Given the description of an element on the screen output the (x, y) to click on. 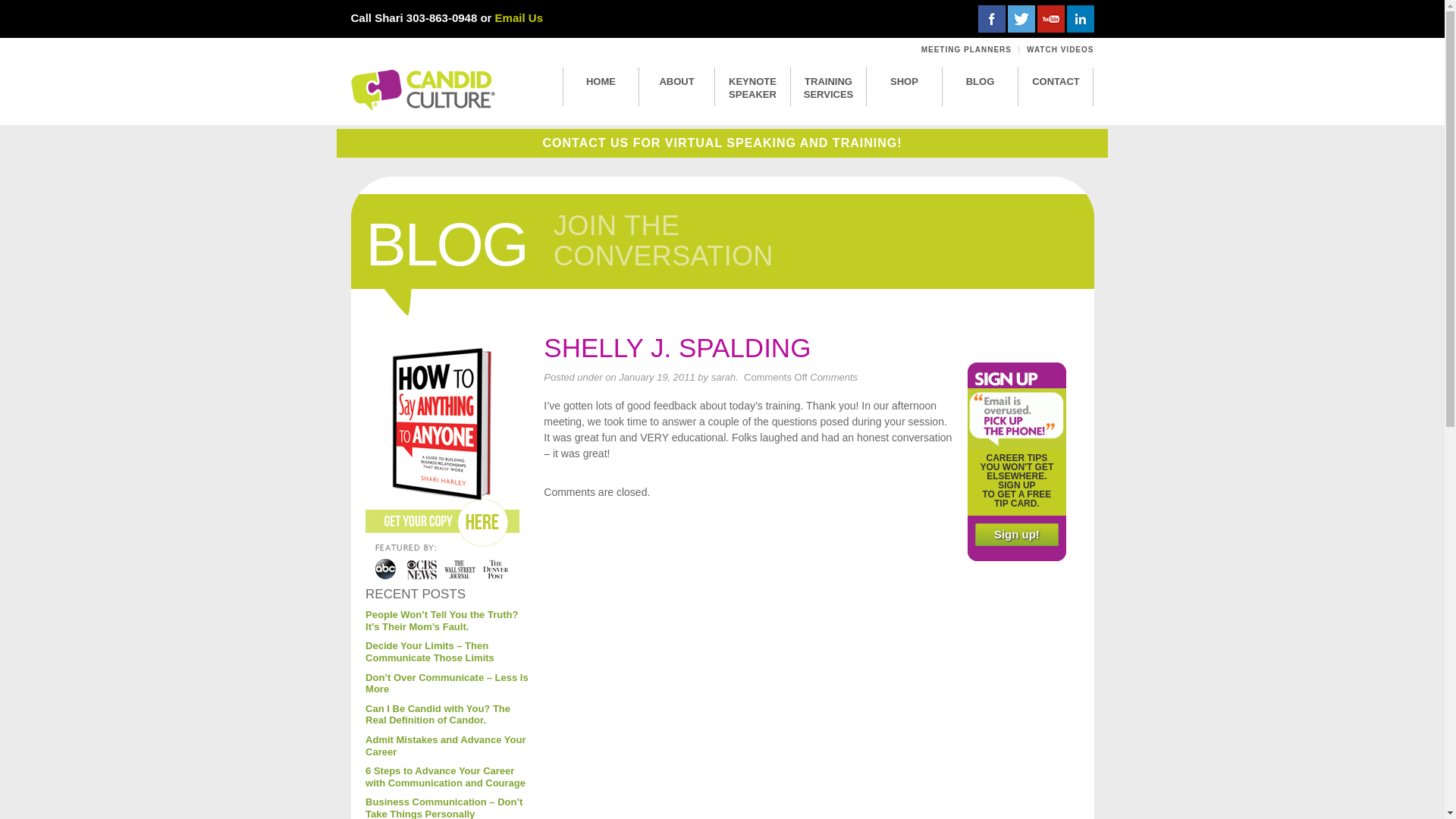
CONTACT (1056, 77)
Can I Be Candid with You? The Real Definition of Candor. (438, 714)
SHOP (903, 77)
Twitter (1020, 18)
BLOG (980, 77)
CONTACT US FOR VIRTUAL SPEAKING AND TRAINING! (721, 142)
TRAINING SERVICES (827, 84)
Facebook (992, 18)
Email Us (519, 17)
MEETING PLANNERS (966, 49)
HOME (600, 77)
RECENT POSTS (415, 594)
WATCH VIDEOS (1059, 49)
YouTube (1050, 18)
ABOUT (676, 77)
